Given the description of an element on the screen output the (x, y) to click on. 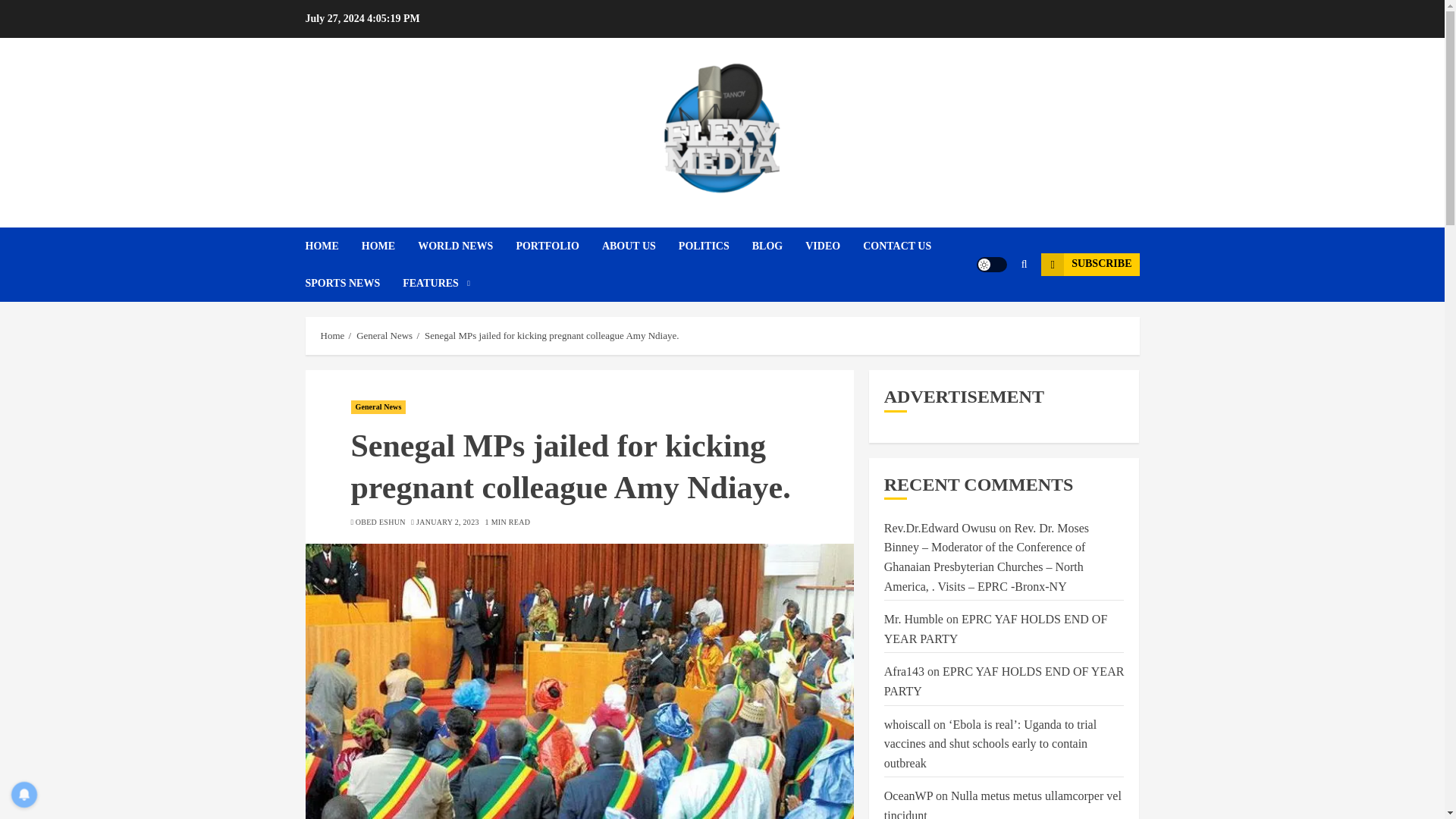
WORLD NEWS (466, 245)
ABOUT US (640, 245)
General News (384, 336)
VIDEO (834, 245)
FEATURES (436, 283)
BLOG (778, 245)
HOME (389, 245)
HOME (332, 245)
POLITICS (715, 245)
SUBSCRIBE (1089, 264)
Search (994, 309)
SPORTS NEWS (353, 283)
PORTFOLIO (558, 245)
General News (378, 407)
JANUARY 2, 2023 (447, 521)
